Given the description of an element on the screen output the (x, y) to click on. 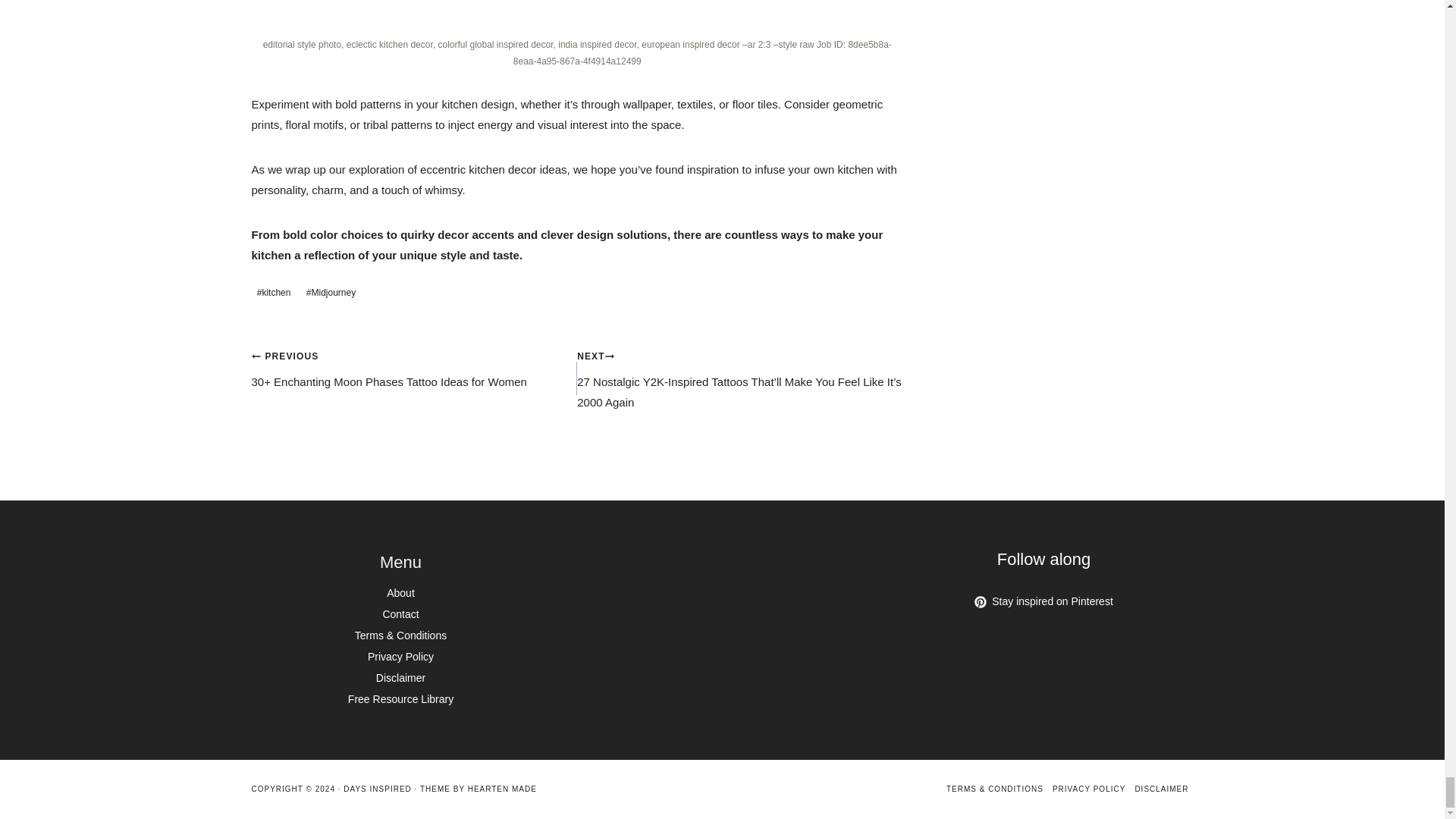
Midjourney (331, 292)
kitchen (274, 292)
